Given the description of an element on the screen output the (x, y) to click on. 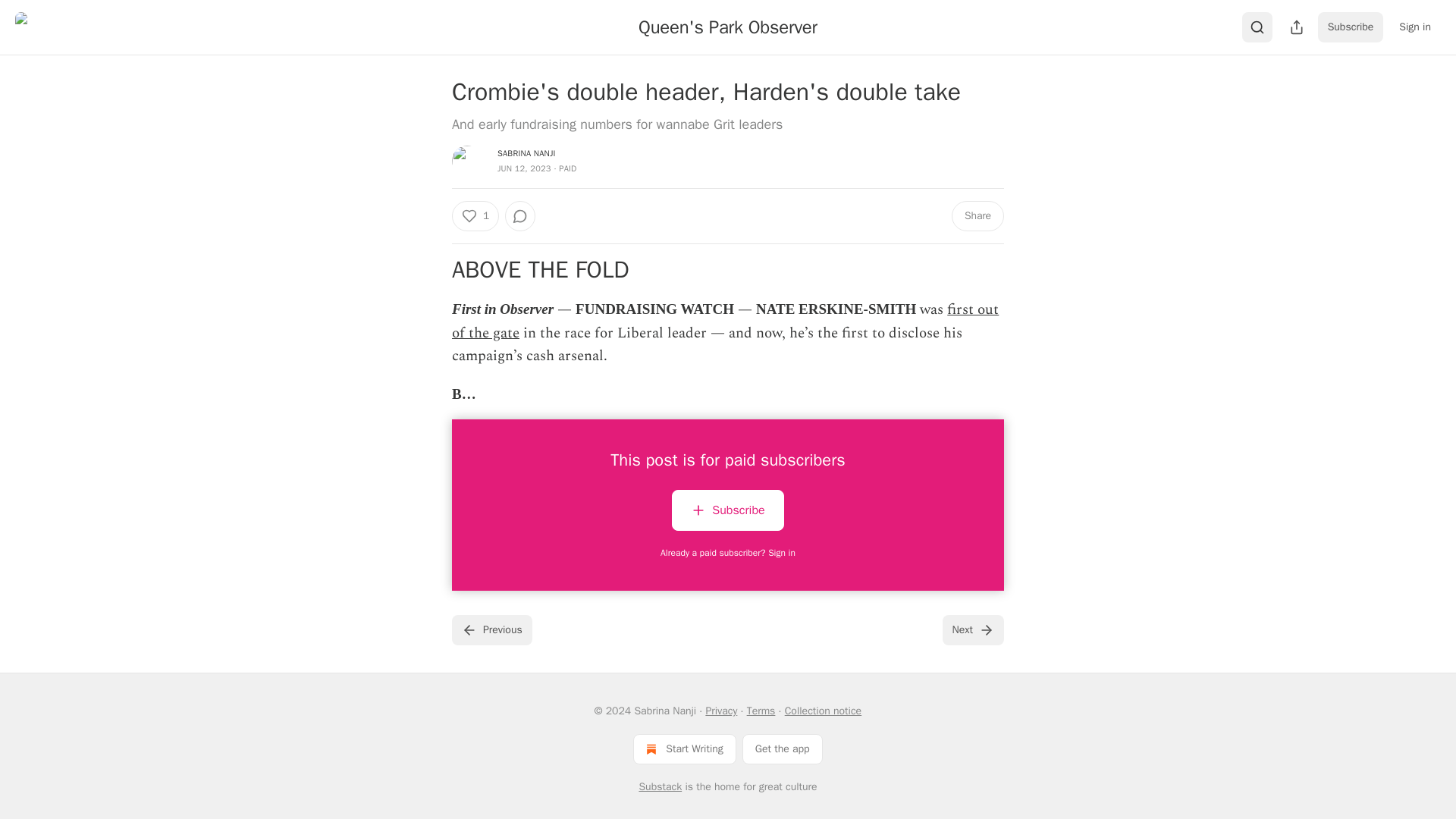
Next (973, 630)
Sign in (1415, 27)
1 (475, 215)
Privacy (720, 710)
Queen's Park Observer (727, 26)
Subscribe (1350, 27)
Terms (761, 710)
Share (978, 215)
Get the app (782, 748)
Subscribe (727, 509)
